Given the description of an element on the screen output the (x, y) to click on. 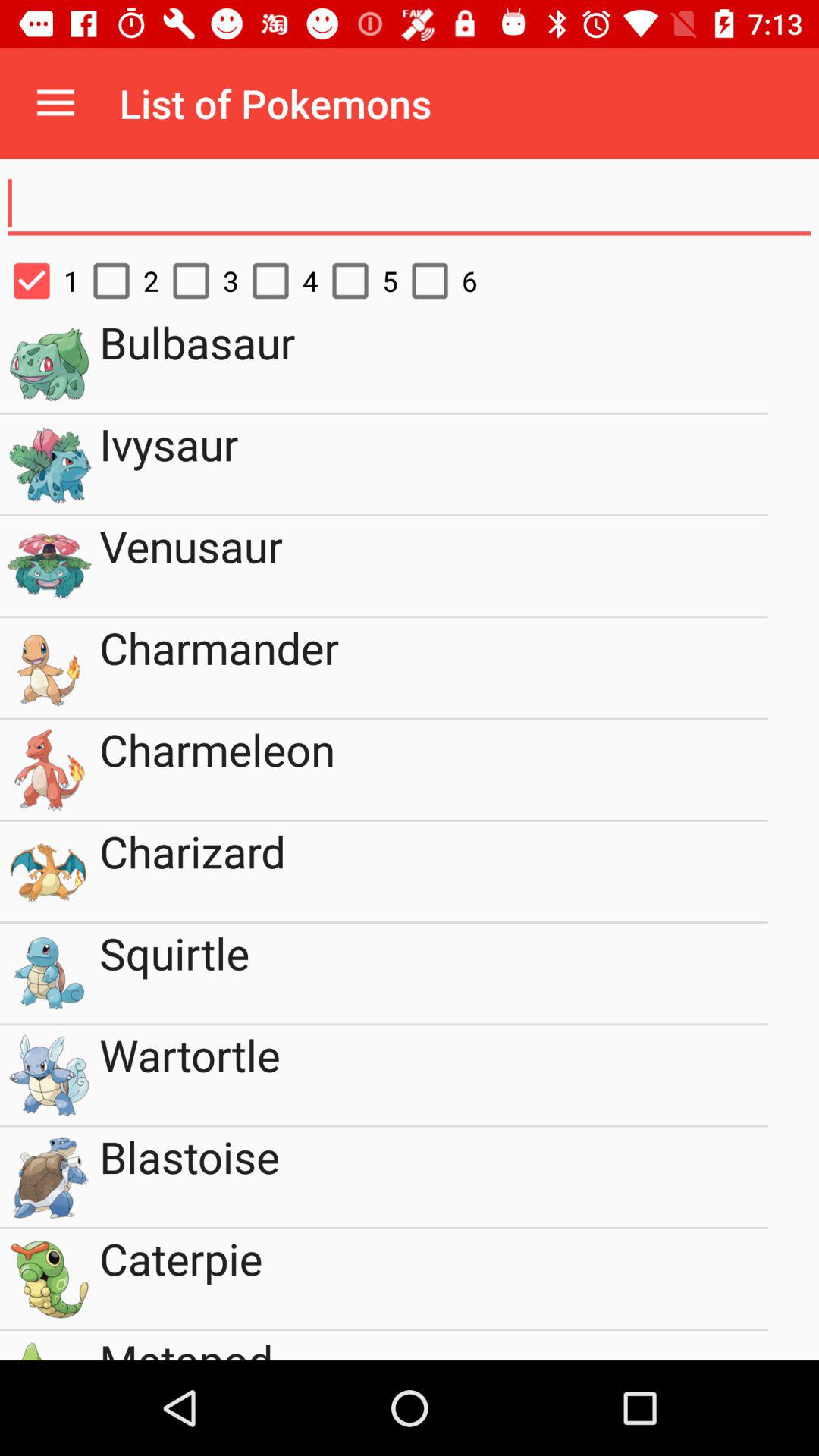
press the icon above the bulbasaur item (437, 280)
